Given the description of an element on the screen output the (x, y) to click on. 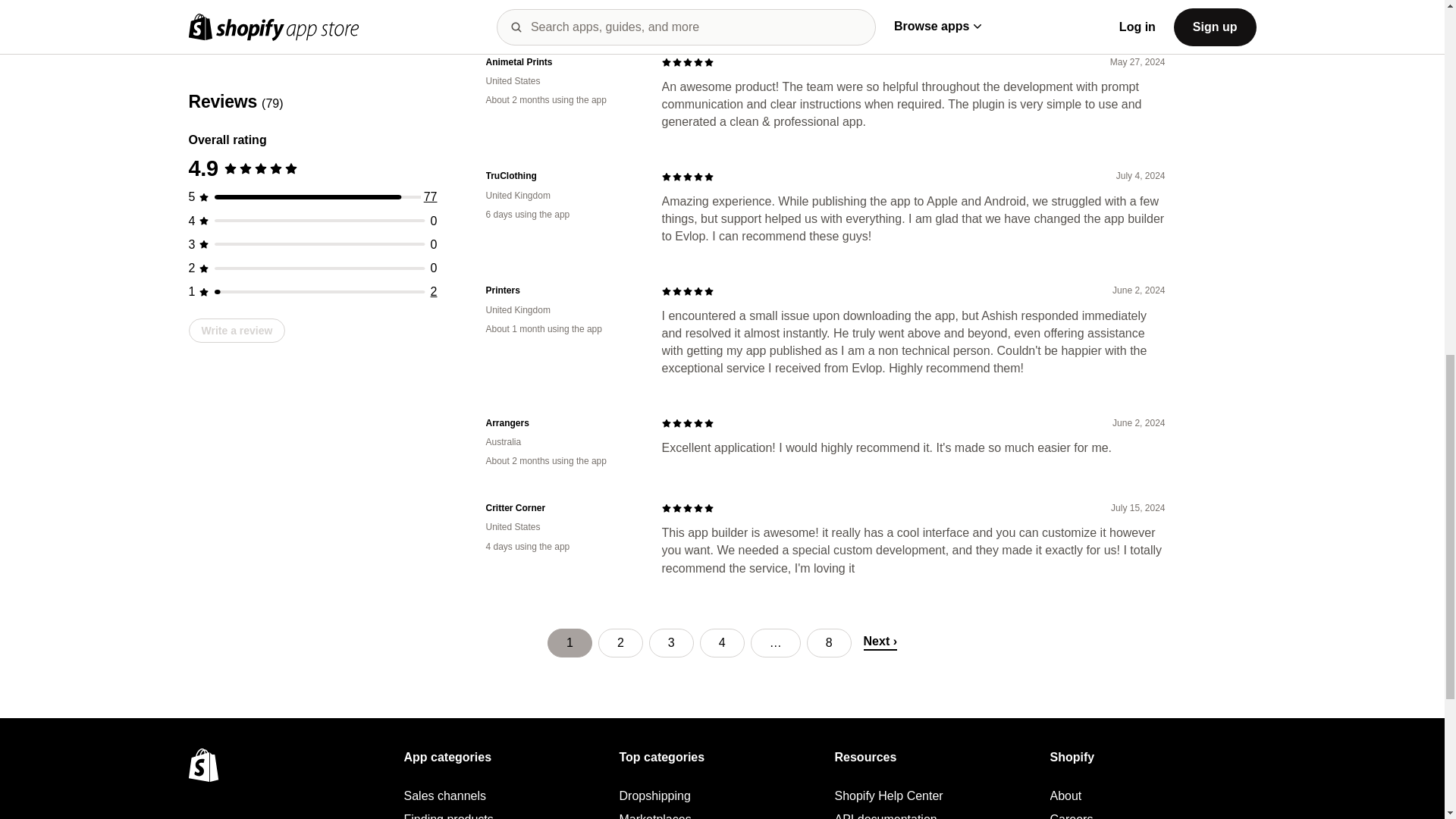
Critter Corner (560, 508)
TruClothing (560, 175)
Animetal Prints  (560, 62)
Printers  (560, 290)
Arrangers  (560, 422)
